Given the description of an element on the screen output the (x, y) to click on. 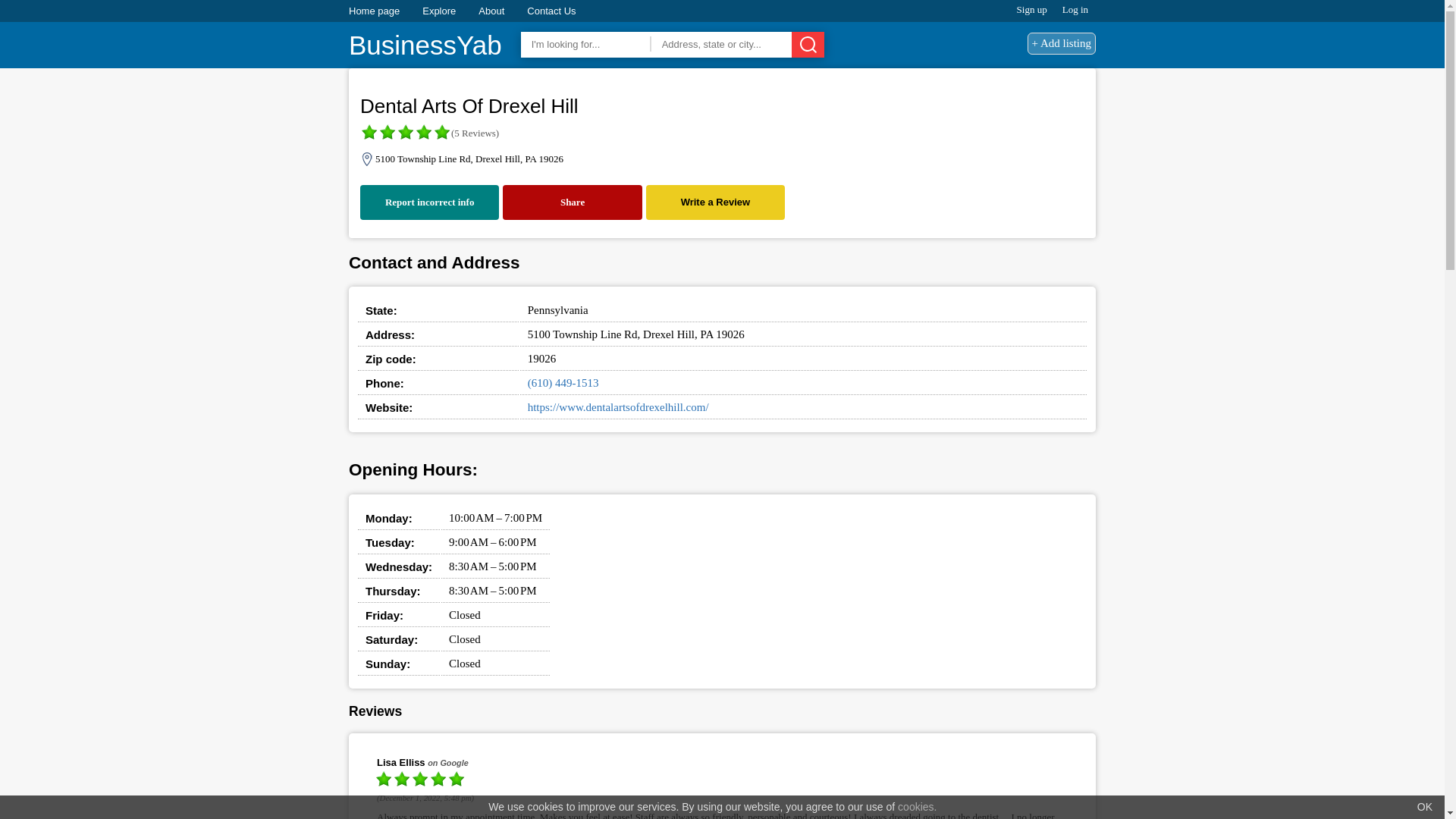
Report incorrect info (429, 202)
Explore (438, 10)
Contact Us (551, 10)
BusinessYab (425, 46)
About (491, 10)
Home page (373, 10)
